Given the description of an element on the screen output the (x, y) to click on. 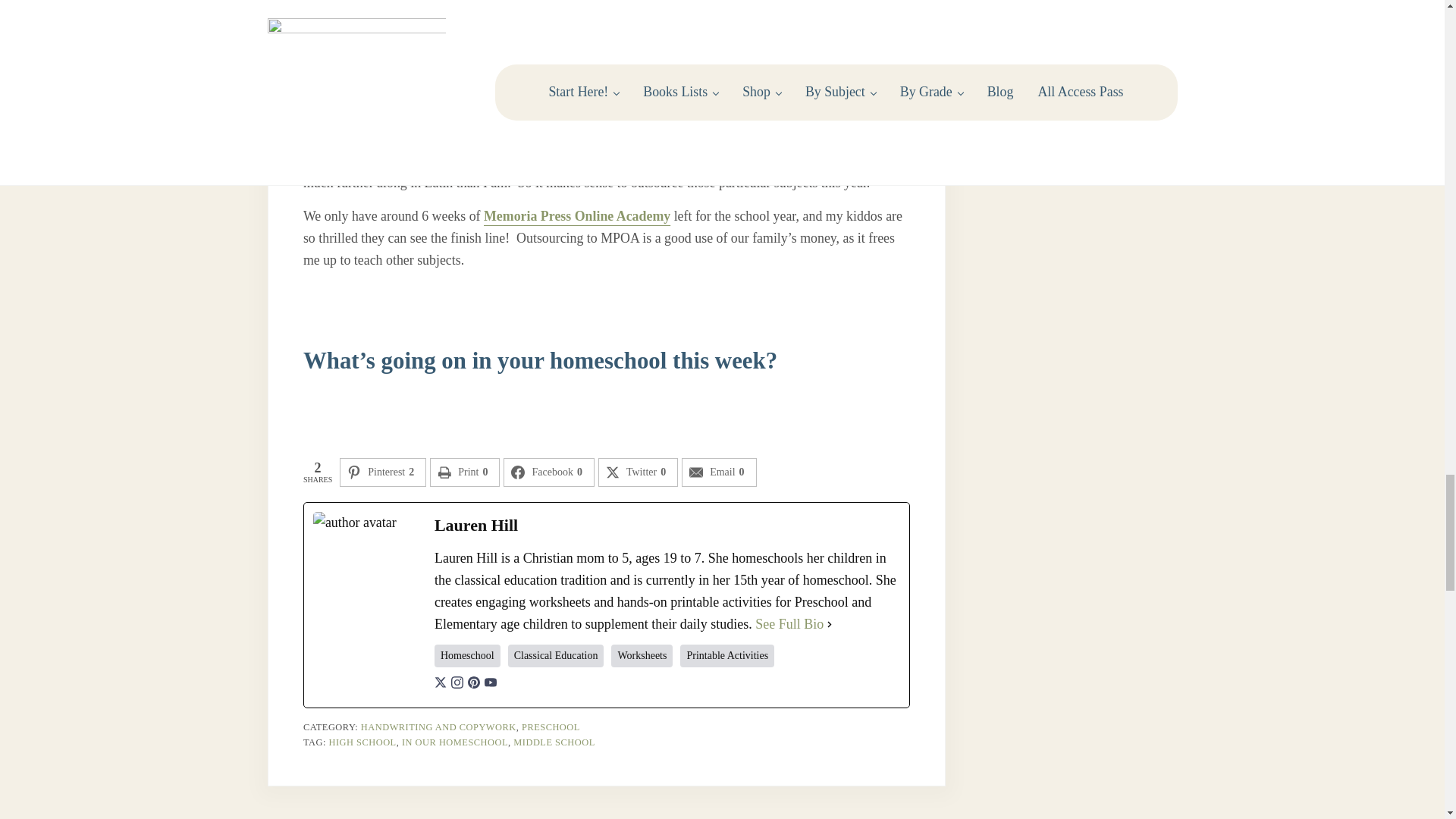
Share on Print (464, 471)
Share on Facebook (548, 471)
Share on Pinterest (382, 471)
